Given the description of an element on the screen output the (x, y) to click on. 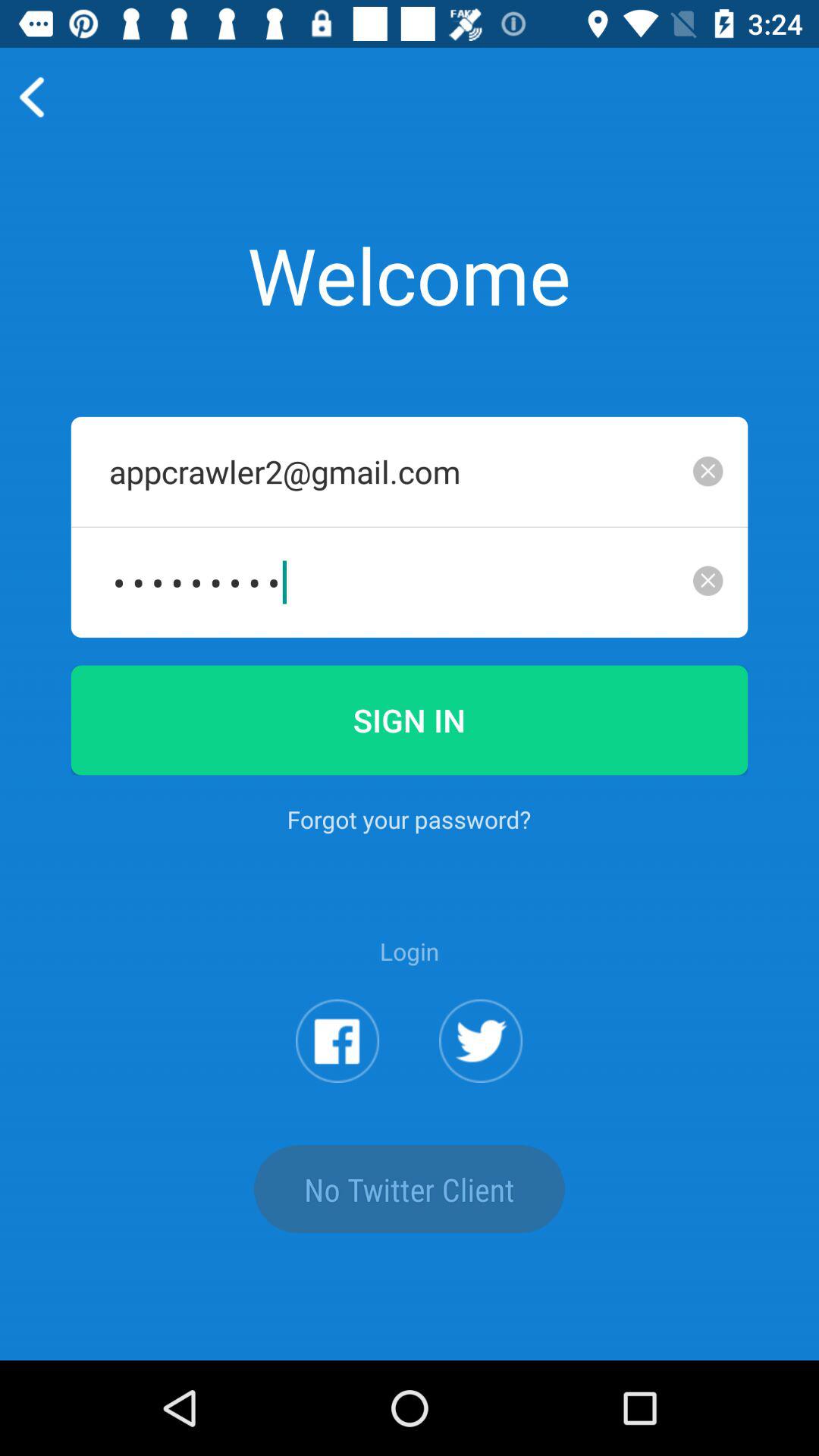
login via twitter (480, 1040)
